Given the description of an element on the screen output the (x, y) to click on. 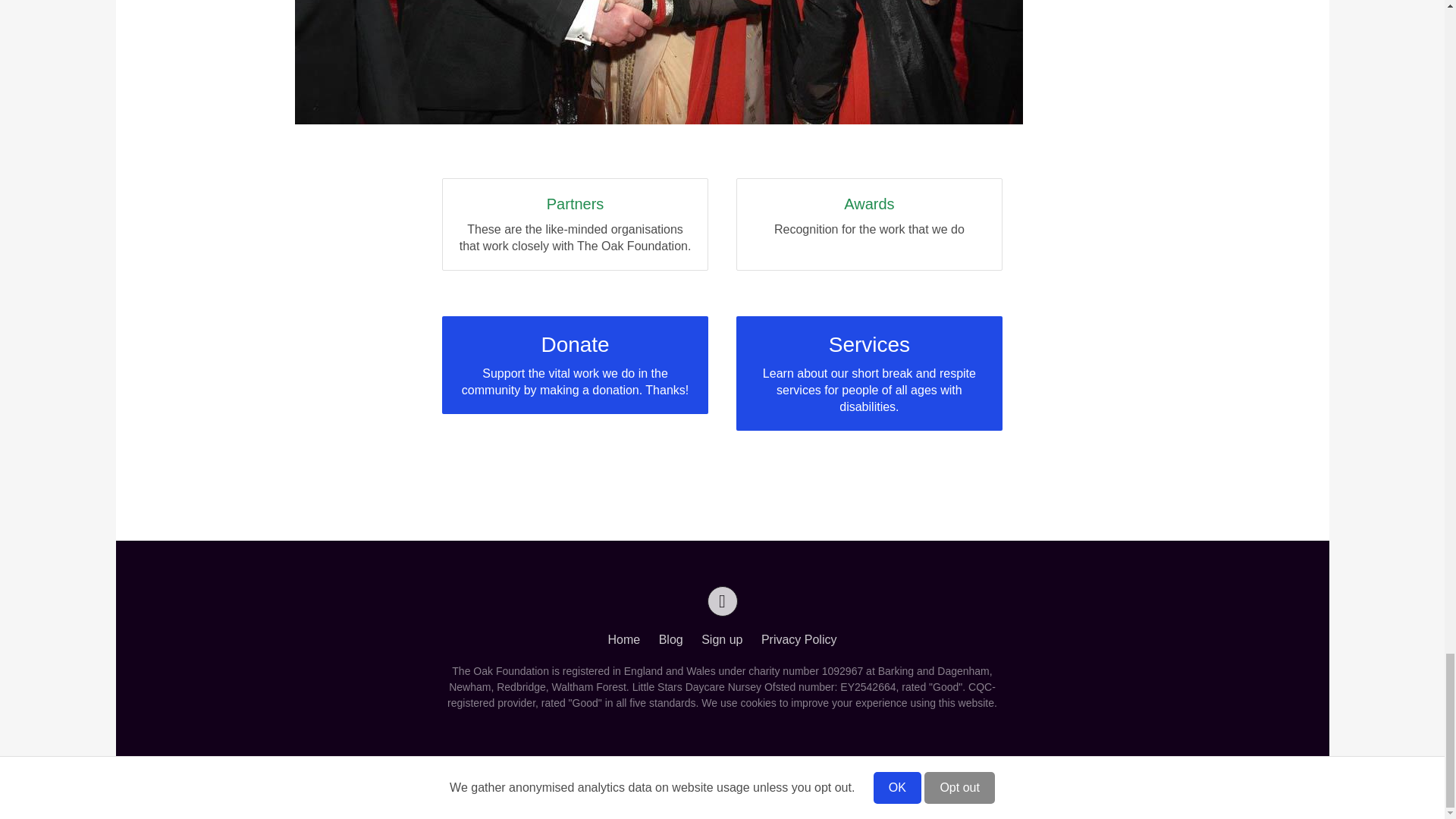
Home (624, 639)
Log in (660, 787)
White Fuse (770, 787)
Blog (670, 639)
Privacy Policy (869, 224)
Sign up (799, 639)
